Given the description of an element on the screen output the (x, y) to click on. 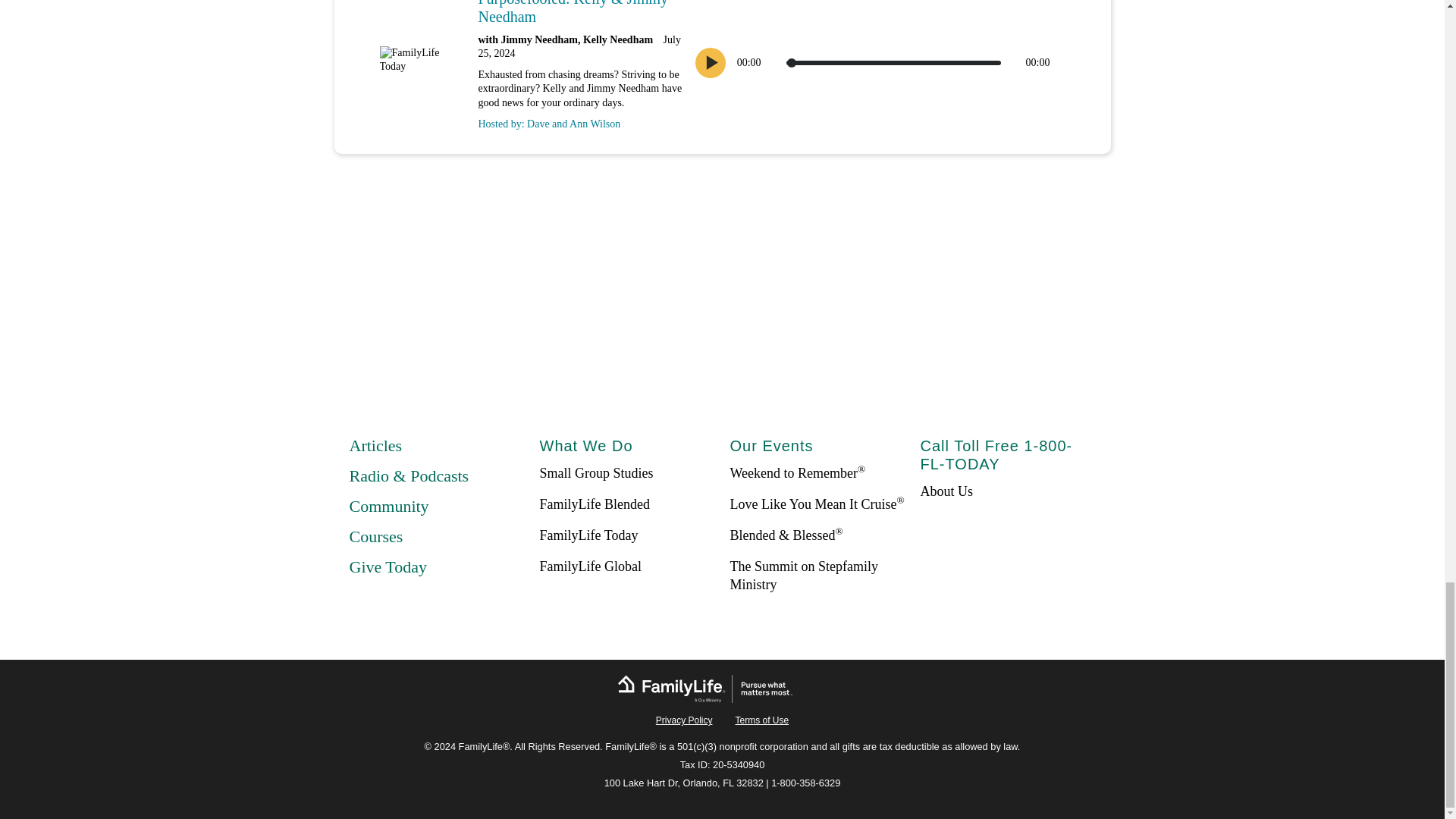
Articles (375, 445)
Community (388, 505)
0 (893, 62)
Hosted by: Dave and Ann Wilson (579, 120)
FamilyLife Blended (594, 503)
FamilyLife Today (589, 534)
Courses (376, 536)
Small Group Studies (596, 473)
FamilyLife Global (591, 566)
Give Today (387, 566)
